Given the description of an element on the screen output the (x, y) to click on. 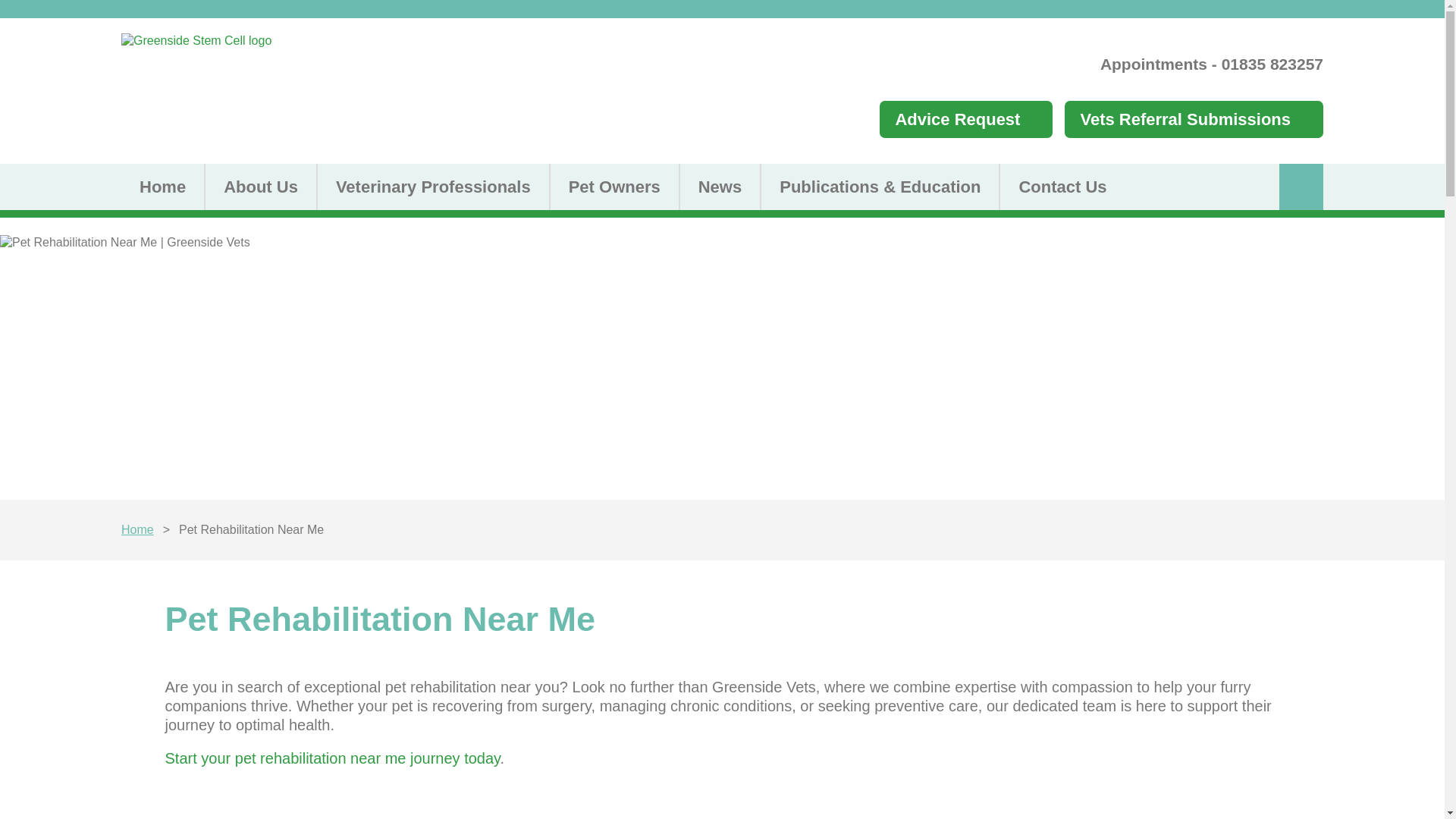
Vets Referral Submissions (1193, 119)
News (719, 186)
Start your pet rehabilitation near me journey today (332, 758)
Veterinary Professionals (431, 186)
Home (161, 186)
Home (137, 529)
Pet Owners (613, 186)
Contact Us (1061, 186)
Appointments - 01835 823257 (1211, 63)
Advice Request (965, 119)
About Us (259, 186)
